Given the description of an element on the screen output the (x, y) to click on. 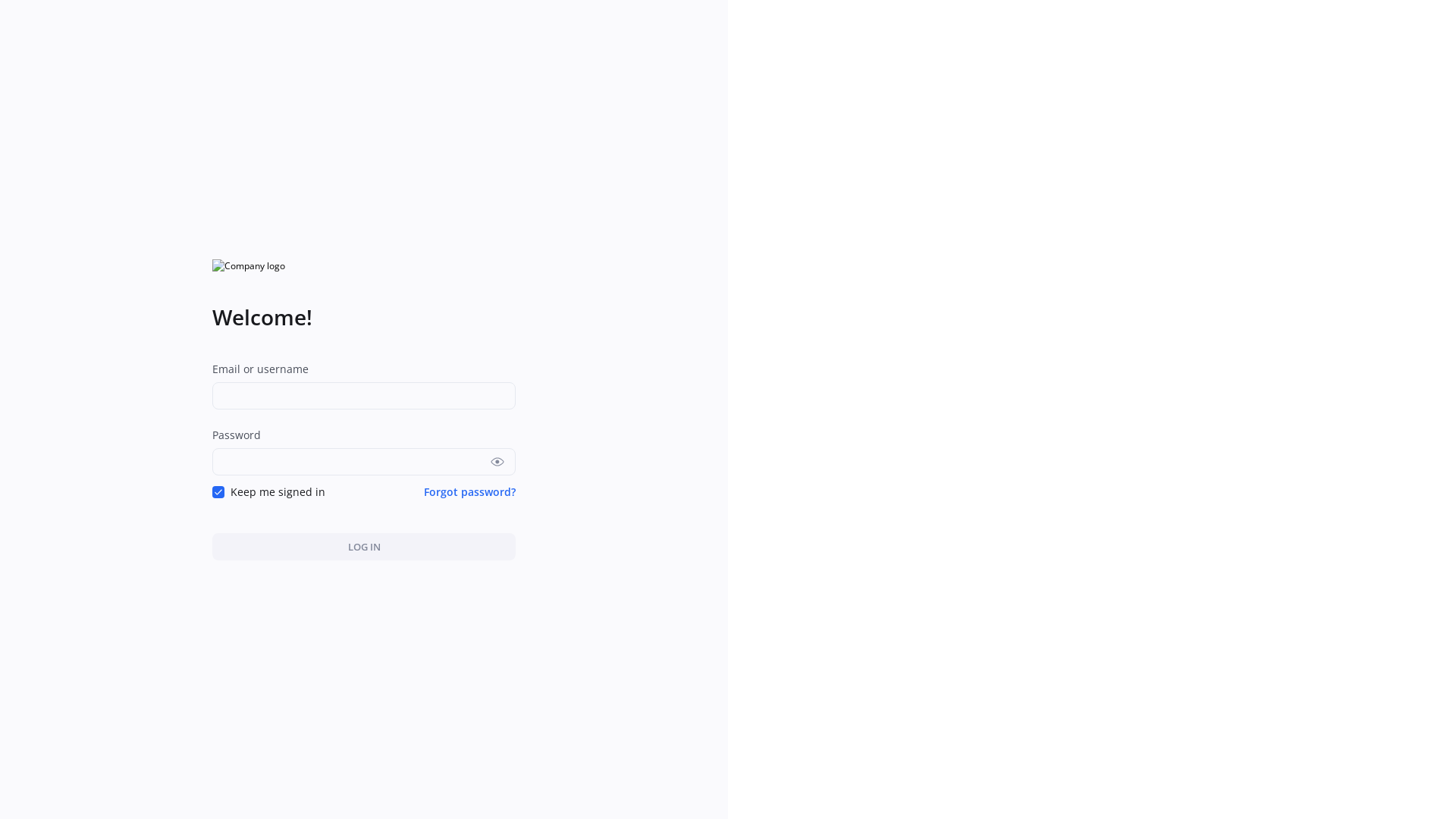
LOG IN Element type: text (363, 545)
Forgot password? Element type: text (469, 491)
